Given the description of an element on the screen output the (x, y) to click on. 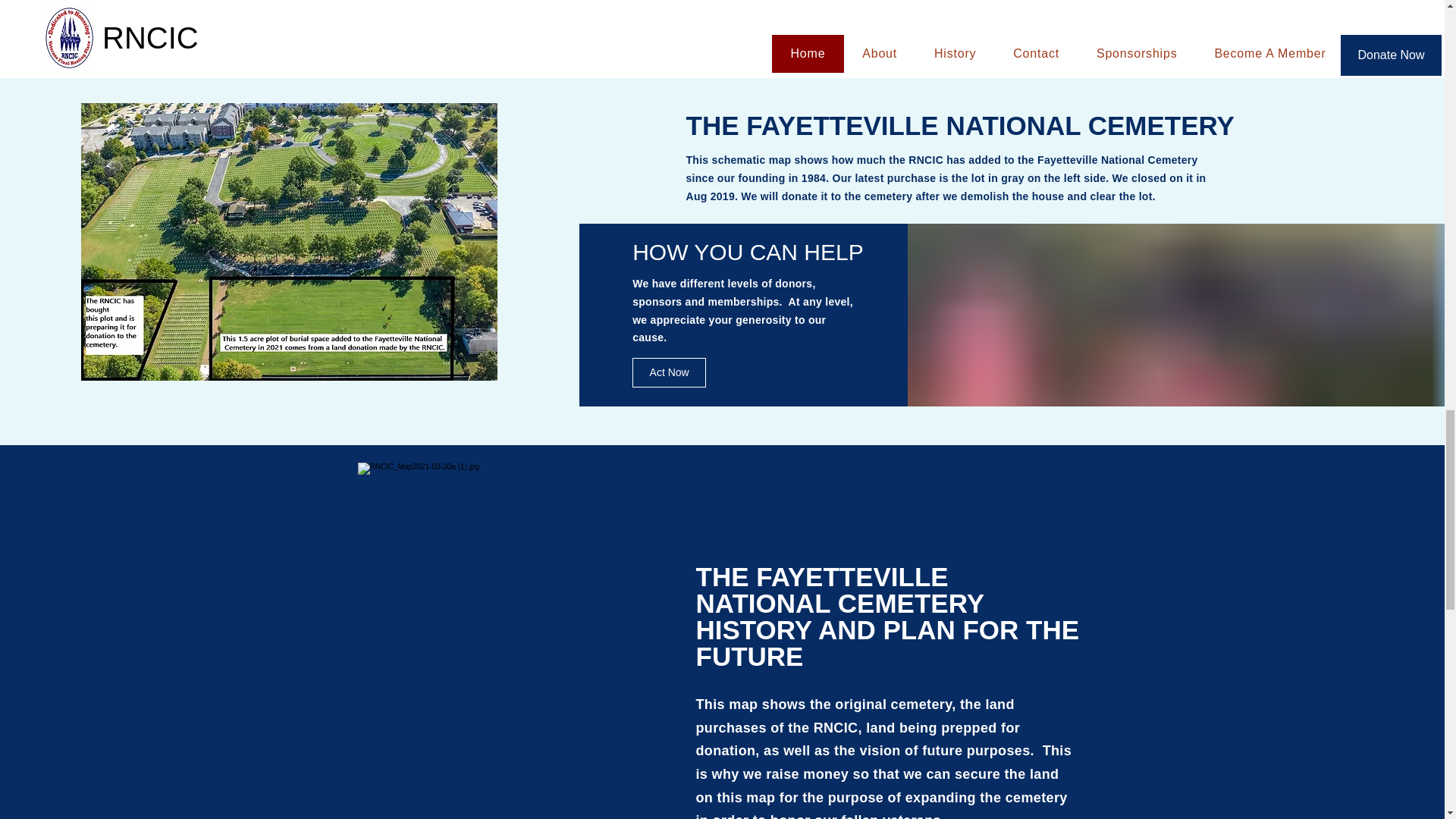
Act Now (668, 372)
